Given the description of an element on the screen output the (x, y) to click on. 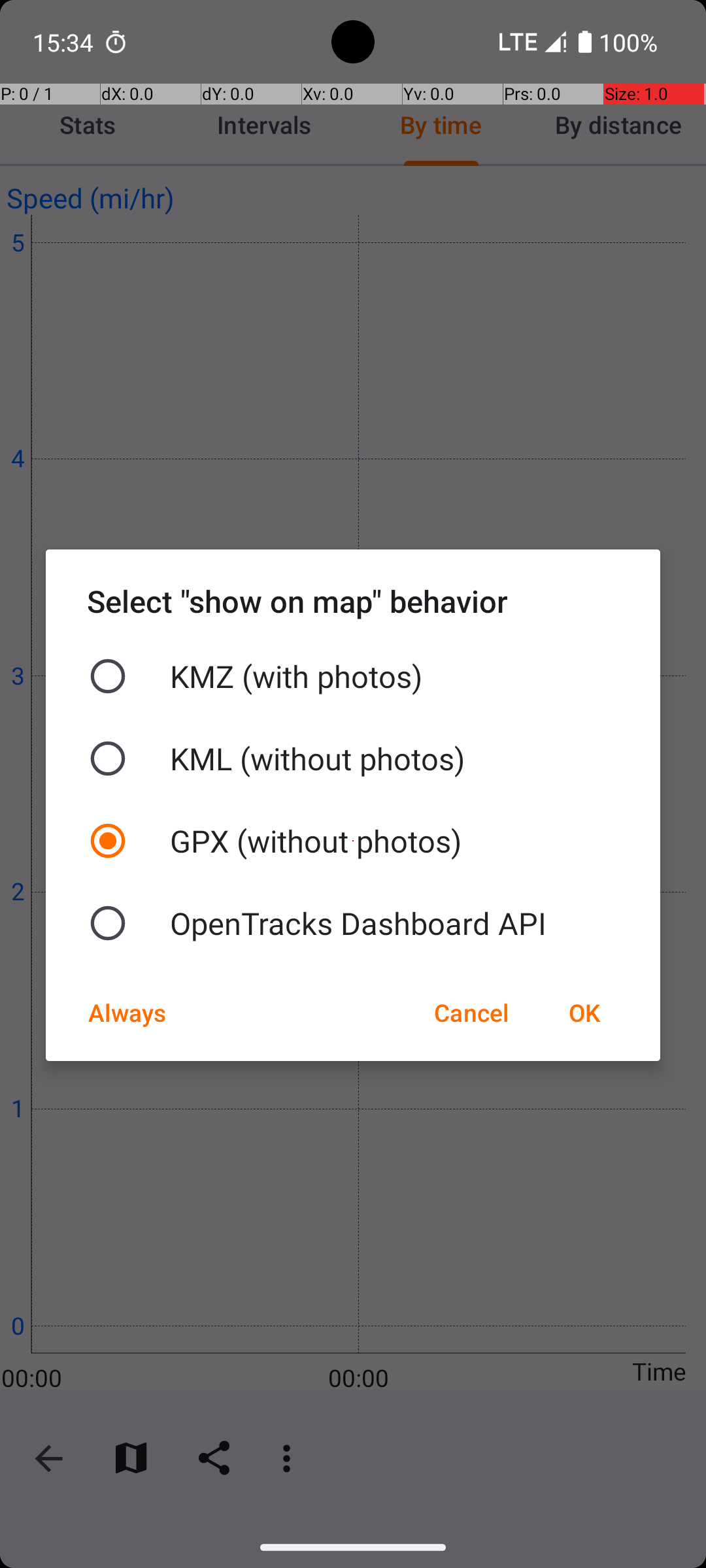
Select "show on map" behavior Element type: android.widget.TextView (352, 600)
KMZ (with photos) Element type: android.widget.CheckedTextView (352, 676)
KML (without photos) Element type: android.widget.CheckedTextView (352, 758)
GPX (without photos) Element type: android.widget.CheckedTextView (352, 840)
OpenTracks Dashboard API Element type: android.widget.CheckedTextView (352, 923)
